Given the description of an element on the screen output the (x, y) to click on. 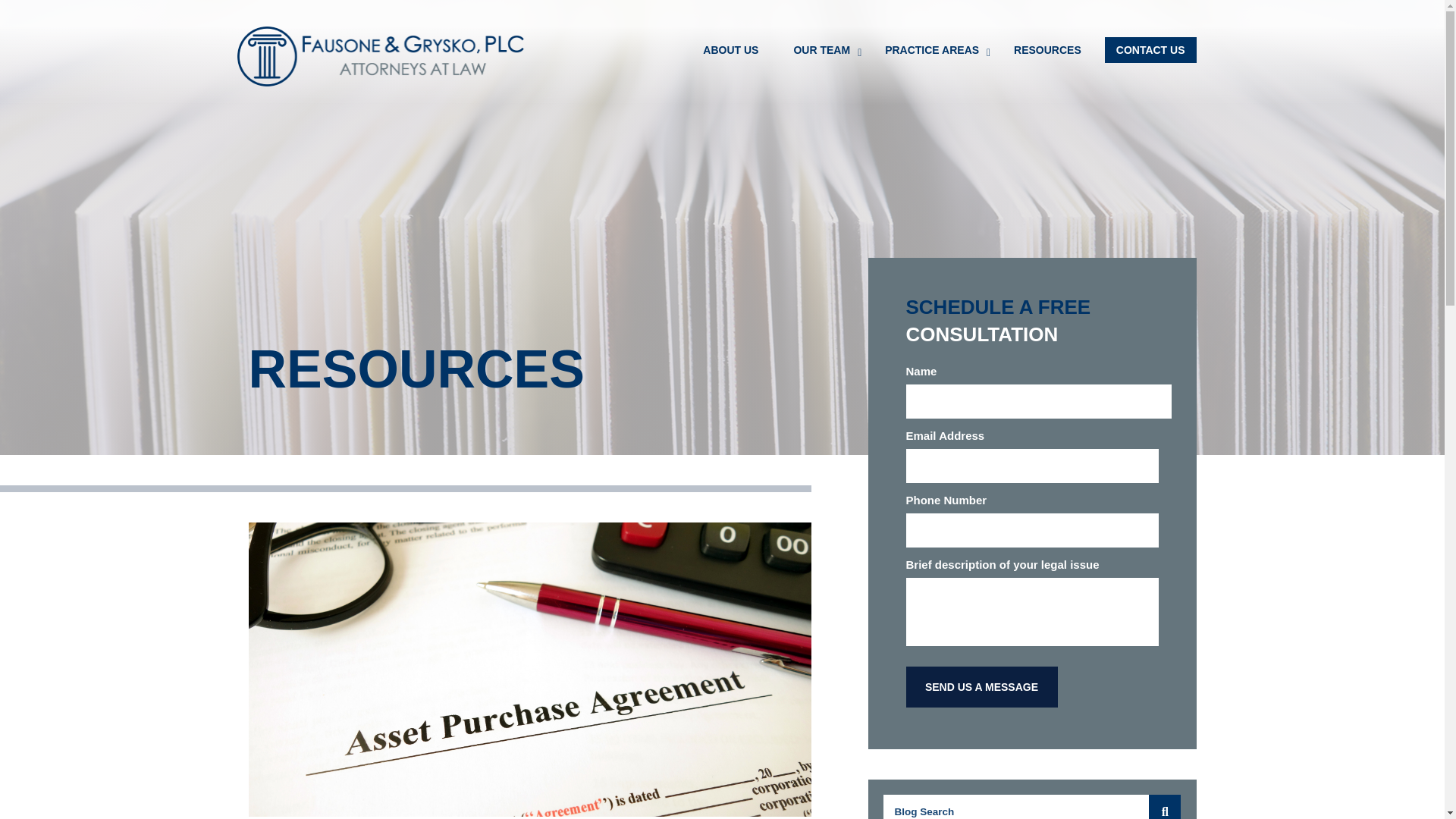
PRACTICE AREAS (931, 49)
ABOUT US (730, 49)
OUR TEAM (821, 49)
